Given the description of an element on the screen output the (x, y) to click on. 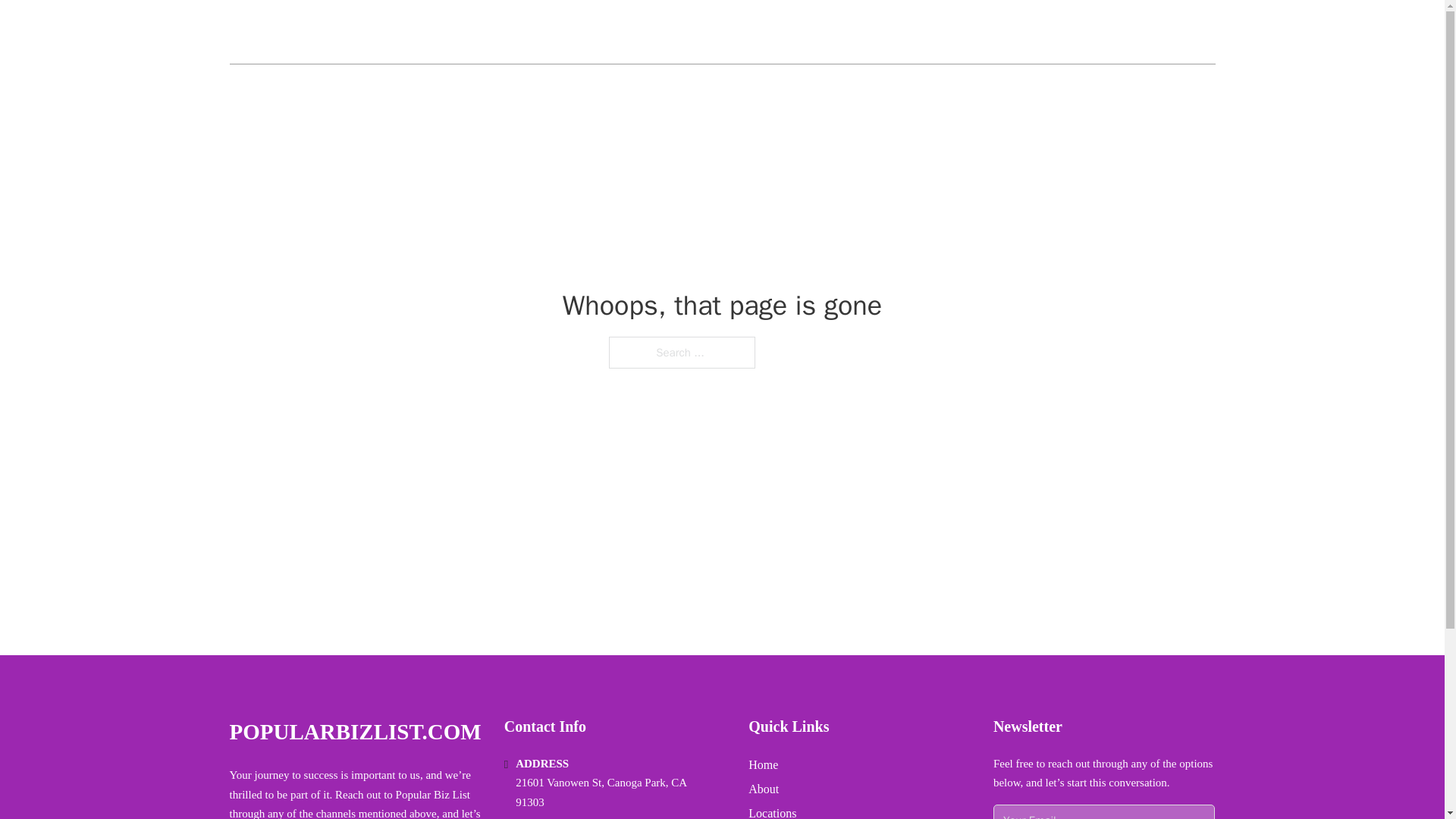
Locations (772, 811)
POPULARBIZLIST.COM (367, 31)
POPULARBIZLIST.COM (354, 732)
HOME (1032, 31)
Home (762, 764)
LOCATIONS (1105, 31)
About (763, 788)
